Given the description of an element on the screen output the (x, y) to click on. 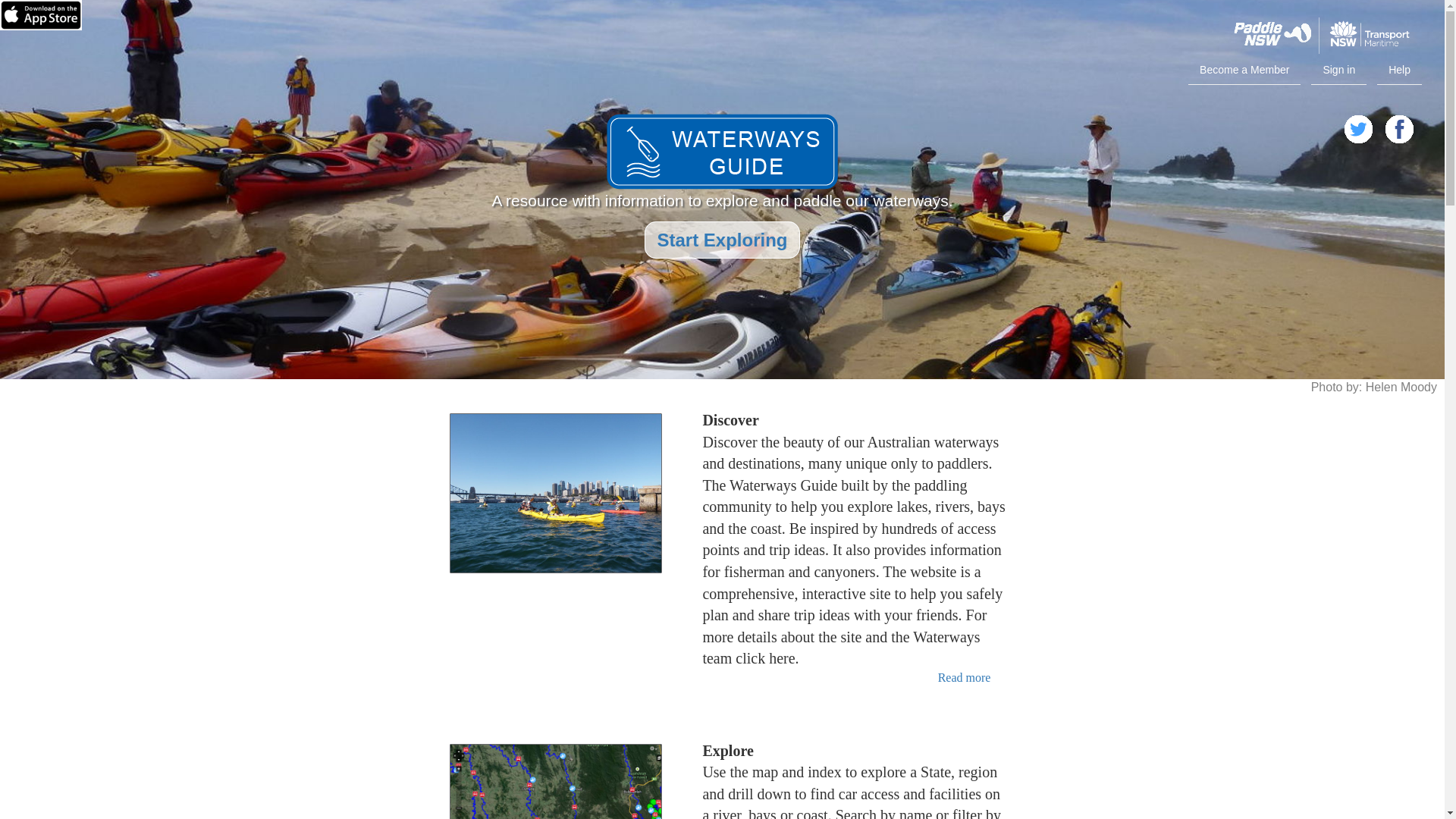
Download from the iTunes store Element type: hover (46, 20)
Start Exploring Element type: text (721, 242)
facebook Element type: hover (1398, 128)
Read more Element type: text (964, 677)
Become a Member Element type: text (1244, 70)
twitter Element type: hover (1358, 128)
Where's Goat Island? Element type: hover (554, 493)
Sign in Element type: text (1338, 70)
Help Element type: text (1399, 70)
